Given the description of an element on the screen output the (x, y) to click on. 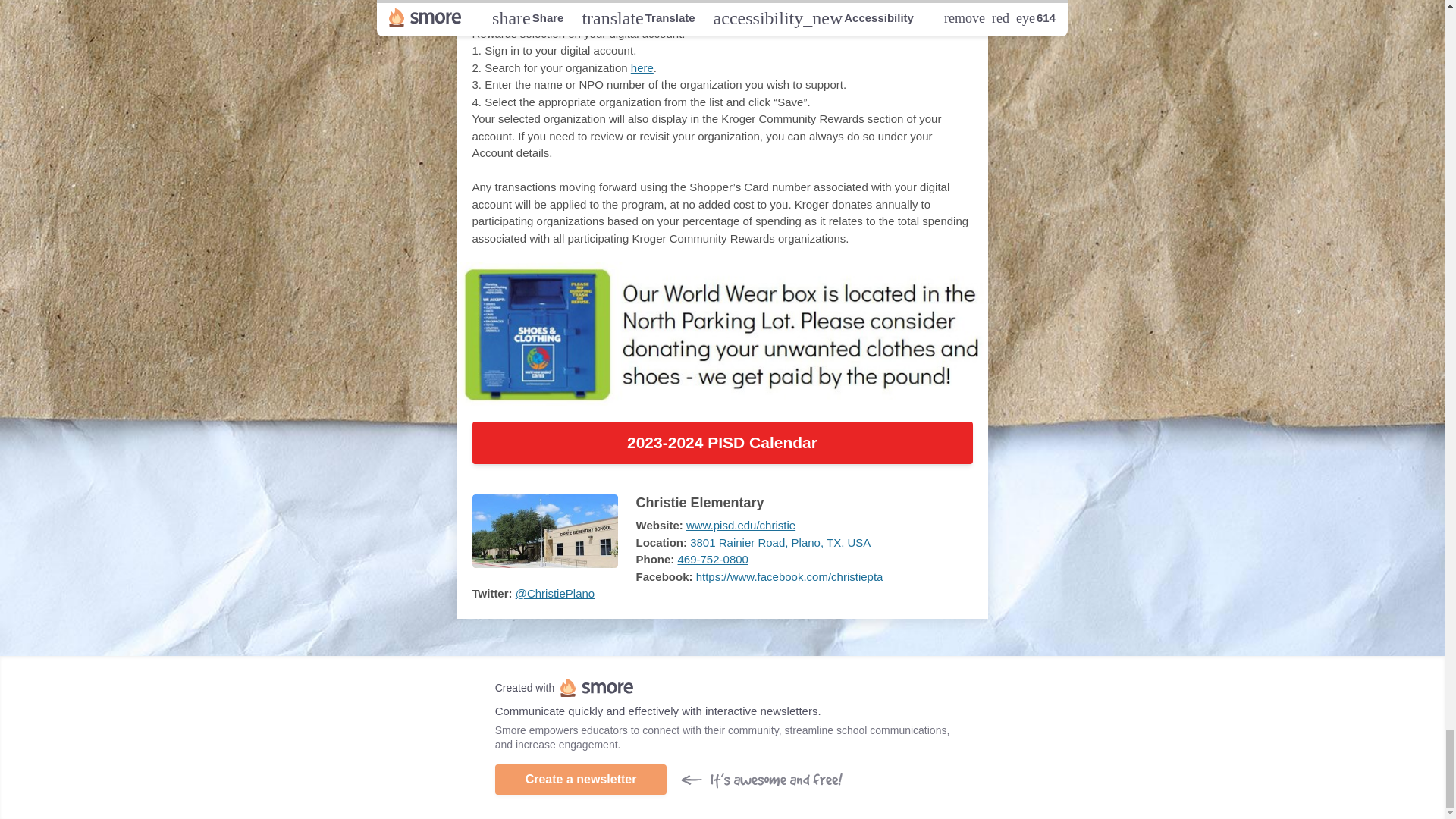
3801 Rainier Road, Plano, TX, USA (780, 542)
here (641, 67)
2023-2024 PISD Calendar (721, 442)
469-752-0800 (713, 558)
